Given the description of an element on the screen output the (x, y) to click on. 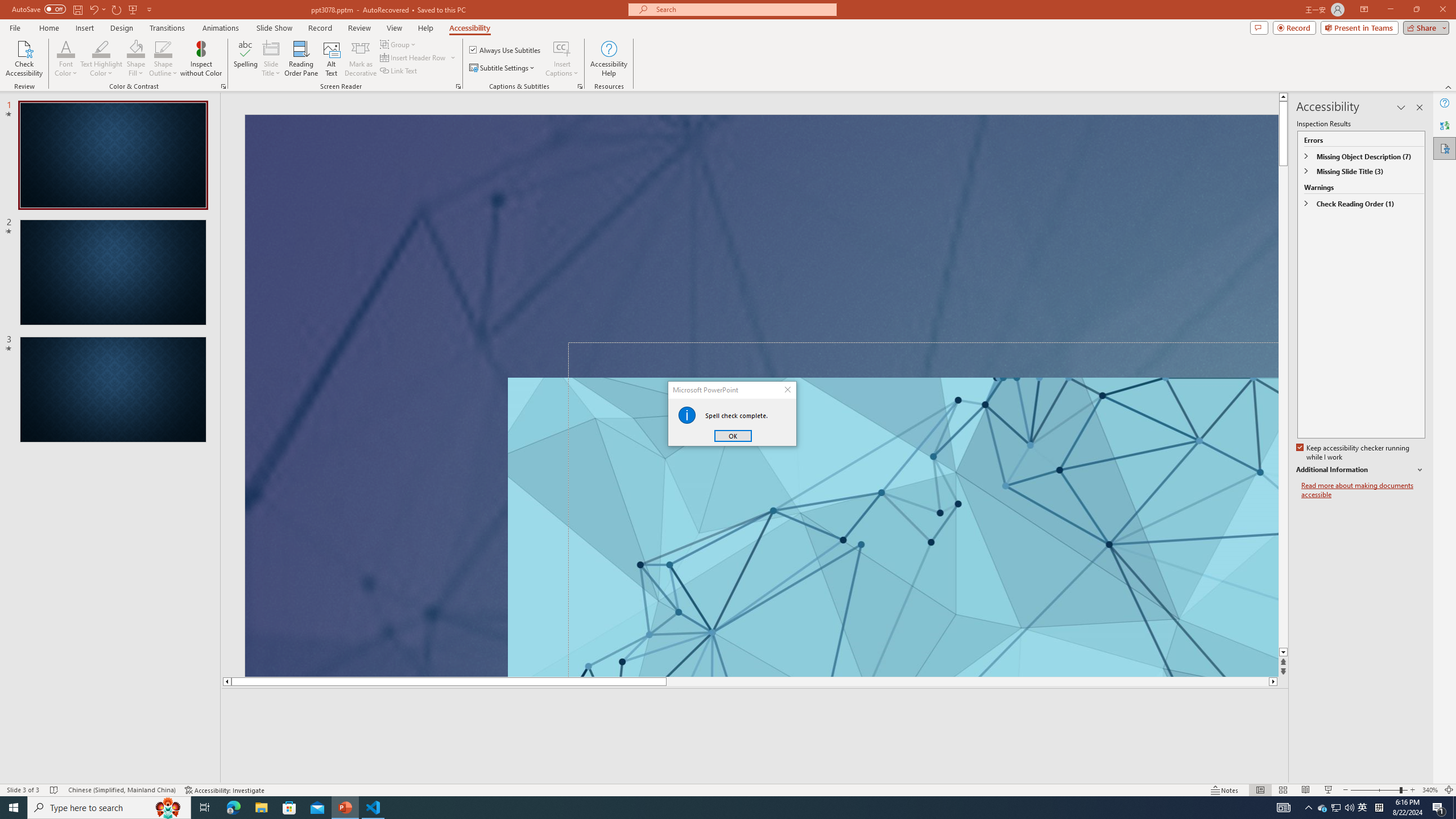
Class: Static (686, 415)
Insert Captions (561, 48)
Slide Title (271, 48)
Always Use Subtitles (505, 49)
Q2790: 100% (1349, 807)
Search highlights icon opens search home window (167, 807)
Slide Notes (755, 705)
Notification Chevron (1308, 807)
Inspect without Color (201, 58)
